Given the description of an element on the screen output the (x, y) to click on. 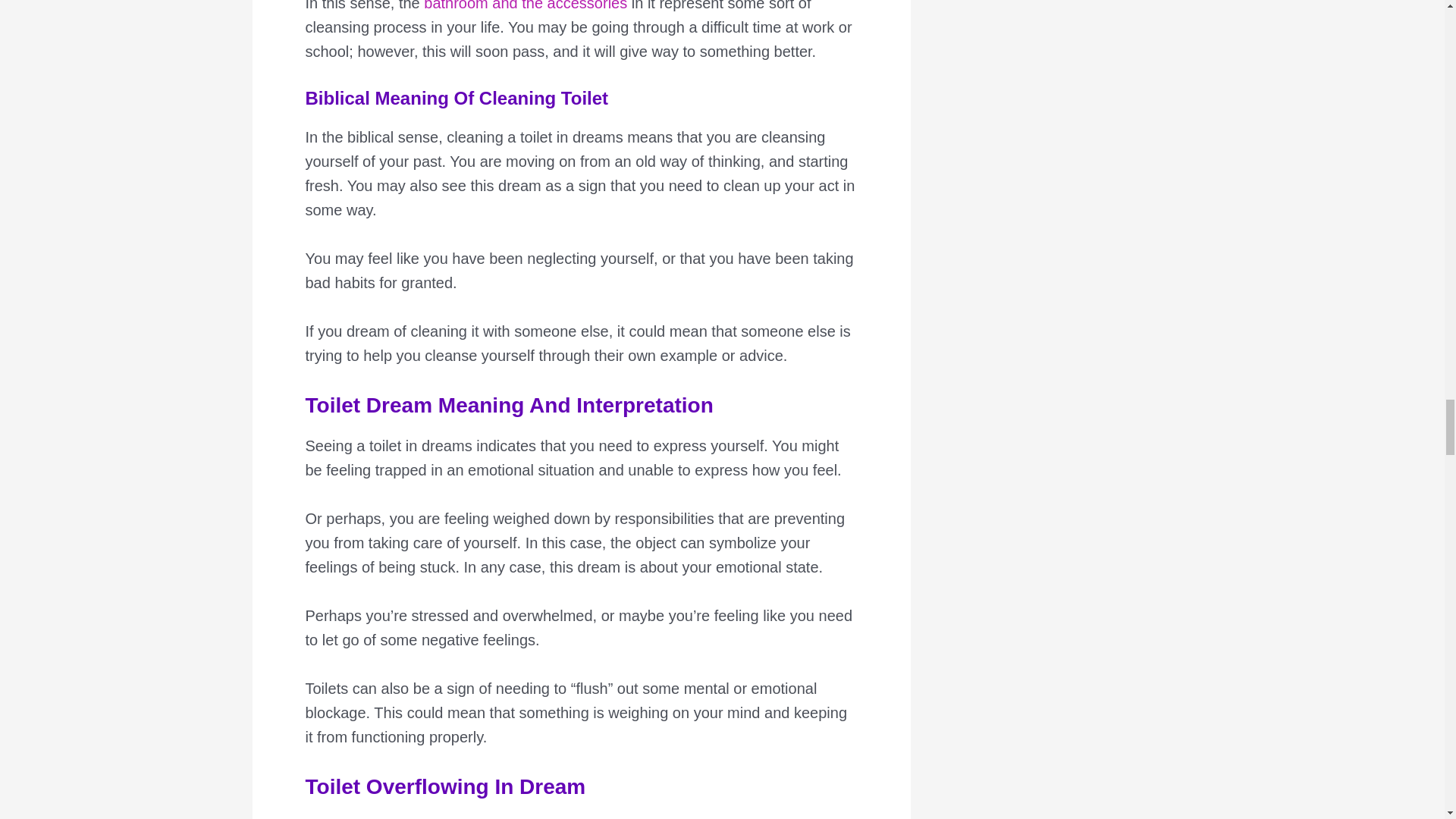
bathroom and the accessories (525, 5)
